Given the description of an element on the screen output the (x, y) to click on. 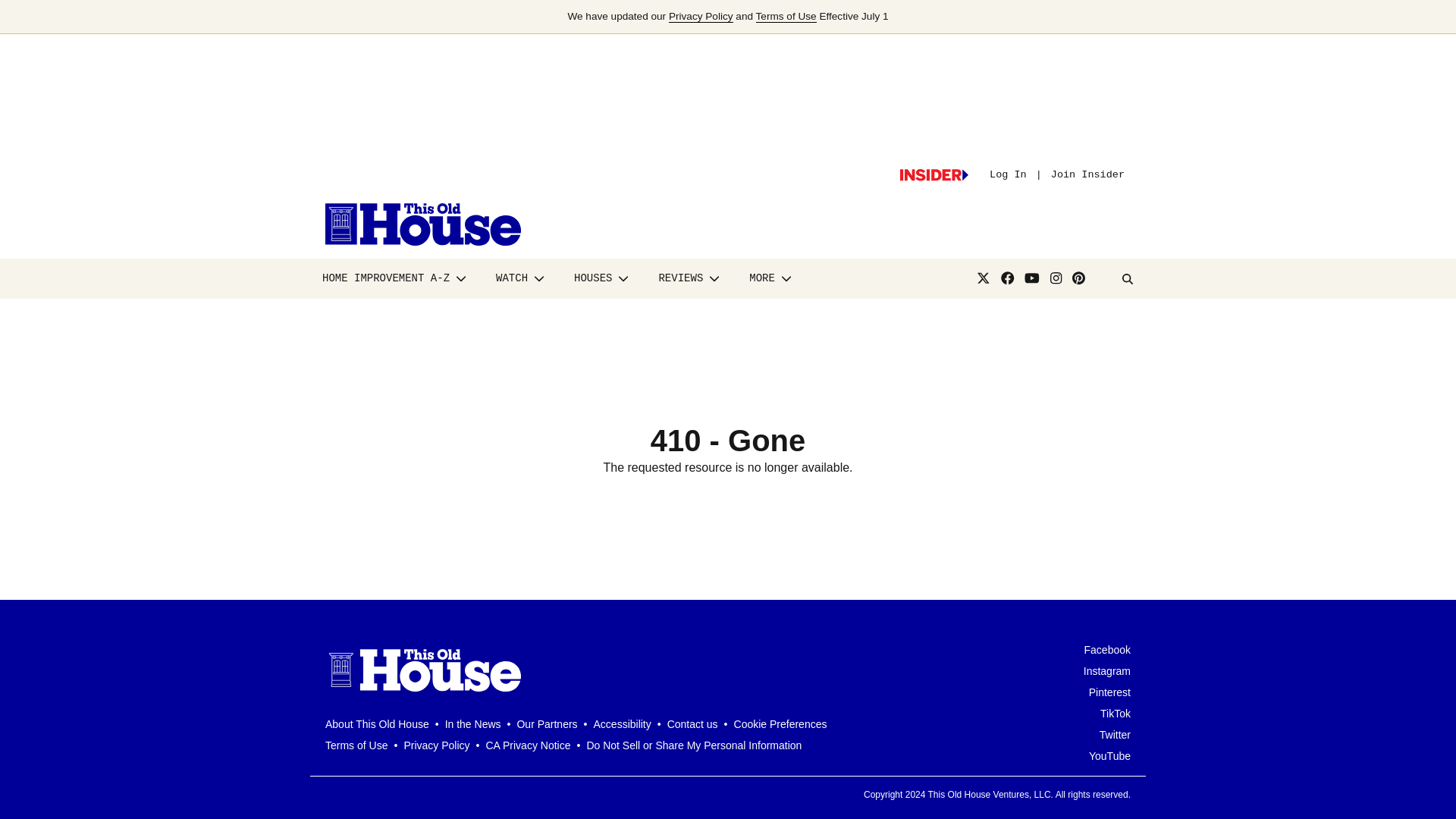
Log in or sign up (933, 174)
Privacy Policy (700, 16)
Join Insider (1087, 174)
Terms of Use (785, 16)
Log In (1008, 174)
